Given the description of an element on the screen output the (x, y) to click on. 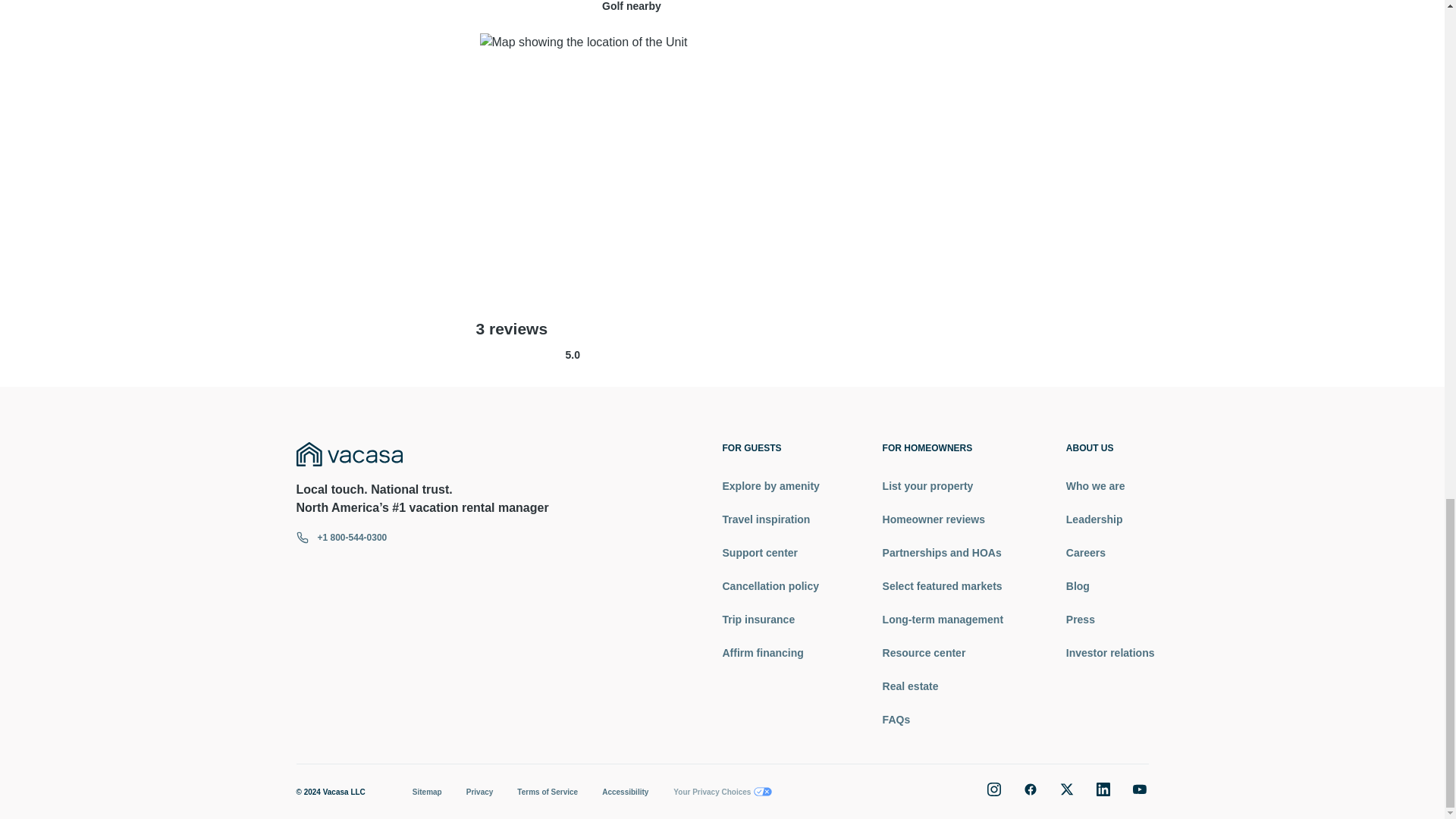
Investor relations (1109, 652)
Homeowner reviews (942, 519)
Blog (1109, 585)
Partnerships and HOAs (942, 552)
Leadership (1109, 519)
Support center (770, 552)
Privacy (479, 791)
Terms of Service (547, 791)
Long-term management (942, 619)
Real estate (942, 685)
